Given the description of an element on the screen output the (x, y) to click on. 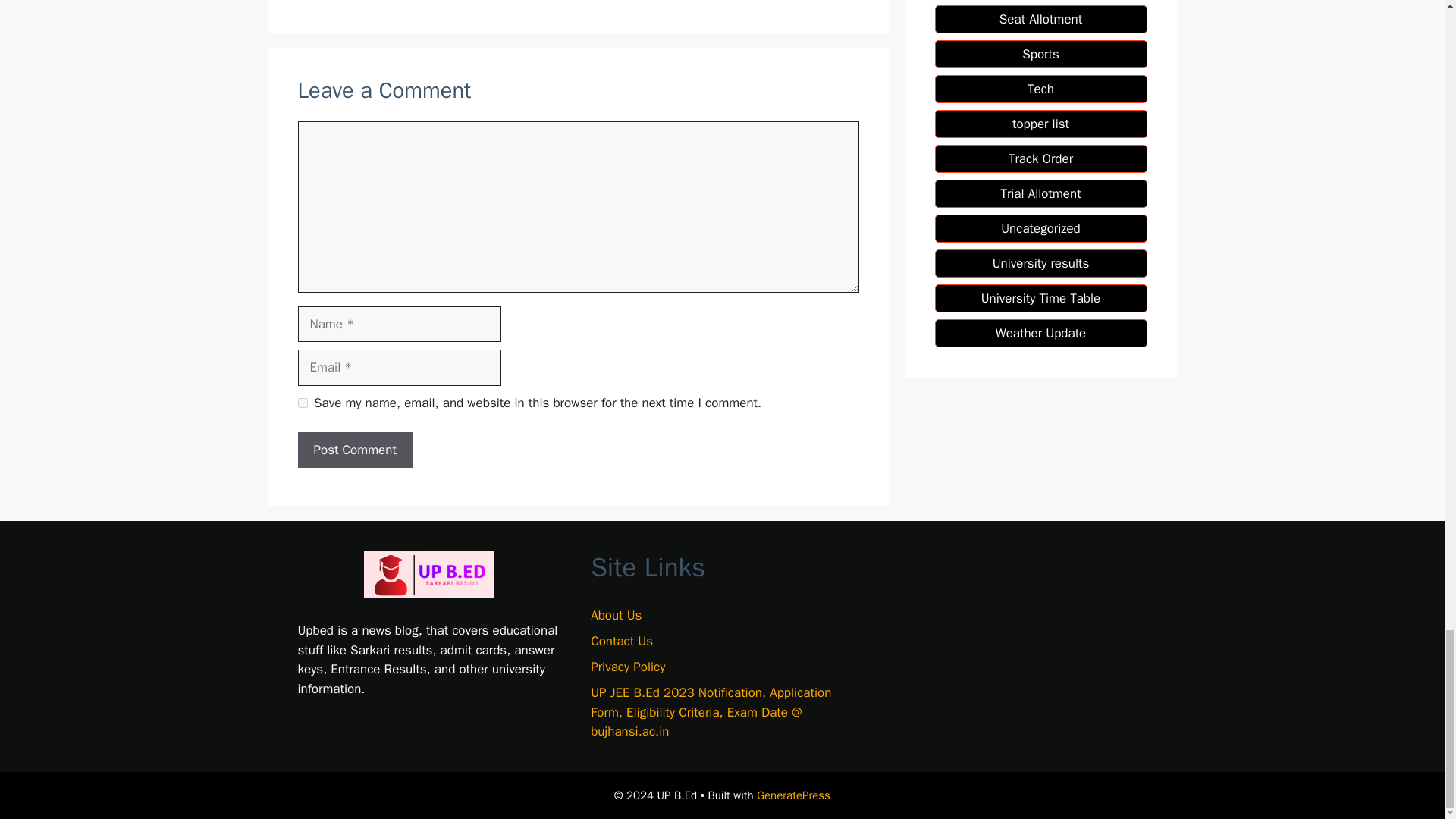
Post Comment (354, 450)
yes (302, 402)
Post Comment (354, 450)
